Given the description of an element on the screen output the (x, y) to click on. 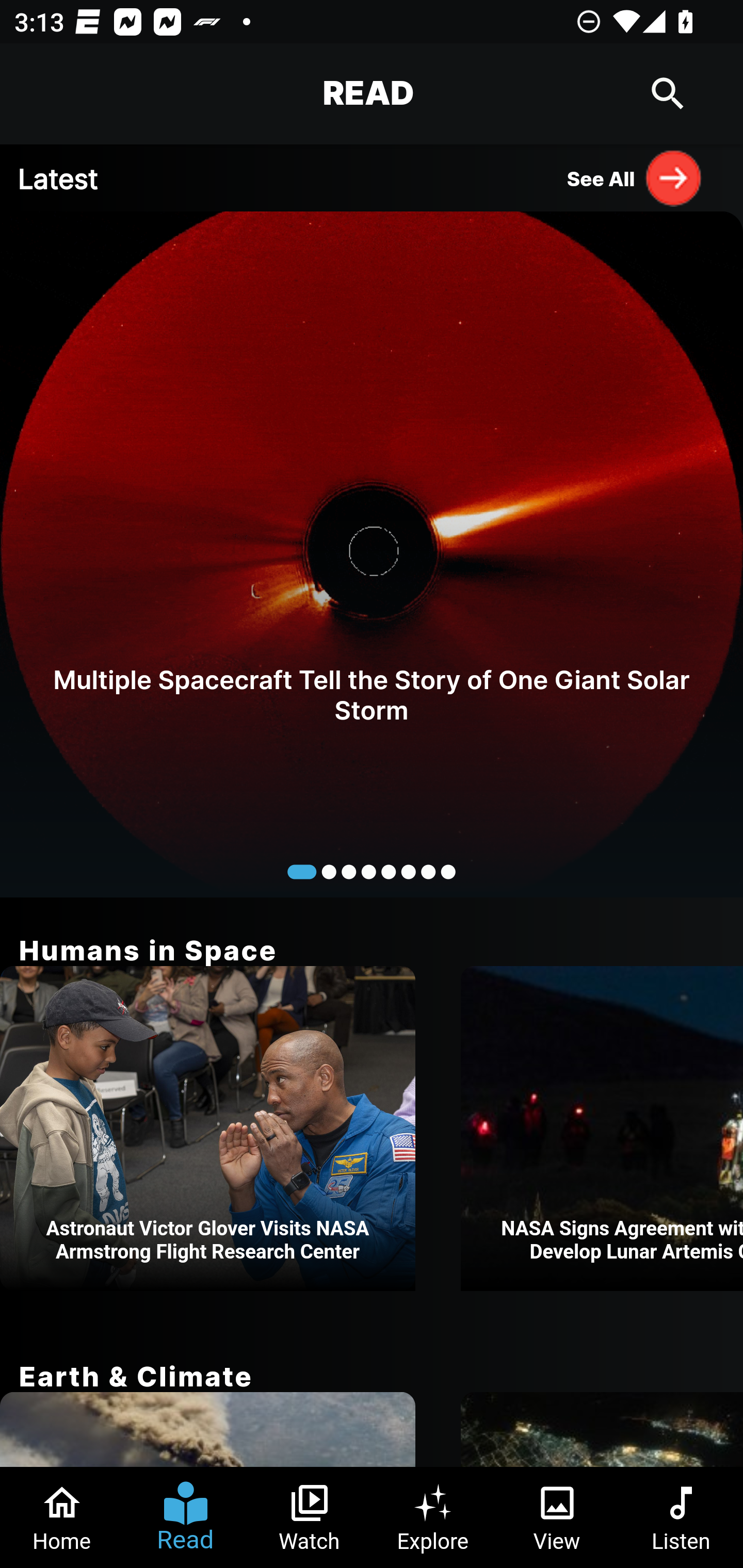
See All (634, 177)
Home
Tab 1 of 6 (62, 1517)
Read
Tab 2 of 6 (185, 1517)
Watch
Tab 3 of 6 (309, 1517)
Explore
Tab 4 of 6 (433, 1517)
View
Tab 5 of 6 (556, 1517)
Listen
Tab 6 of 6 (680, 1517)
